Given the description of an element on the screen output the (x, y) to click on. 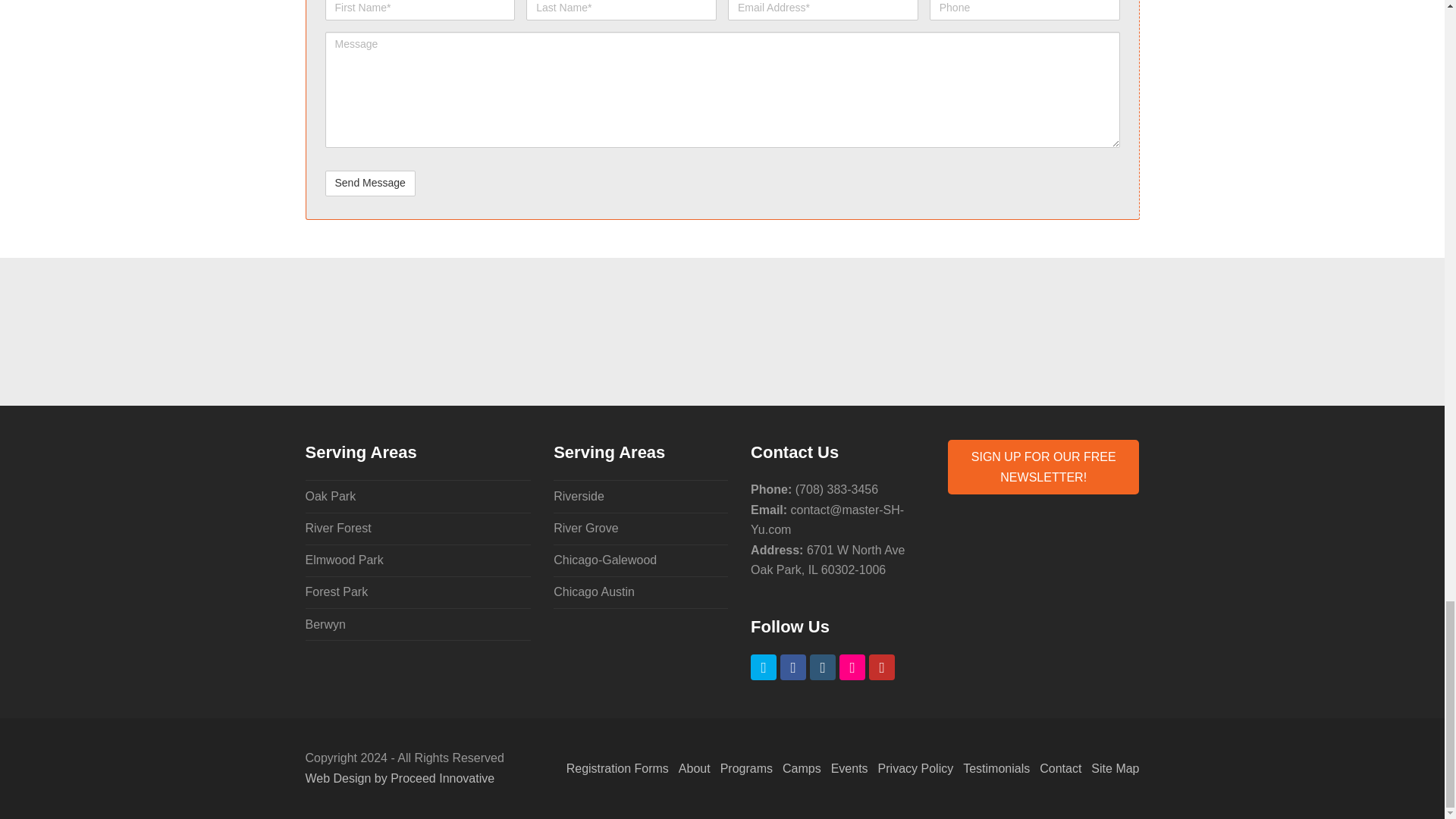
Youtube (882, 667)
Instagram (822, 667)
Send Message (369, 183)
Facebook (793, 667)
Twitter (763, 667)
Flickr (852, 667)
